Given the description of an element on the screen output the (x, y) to click on. 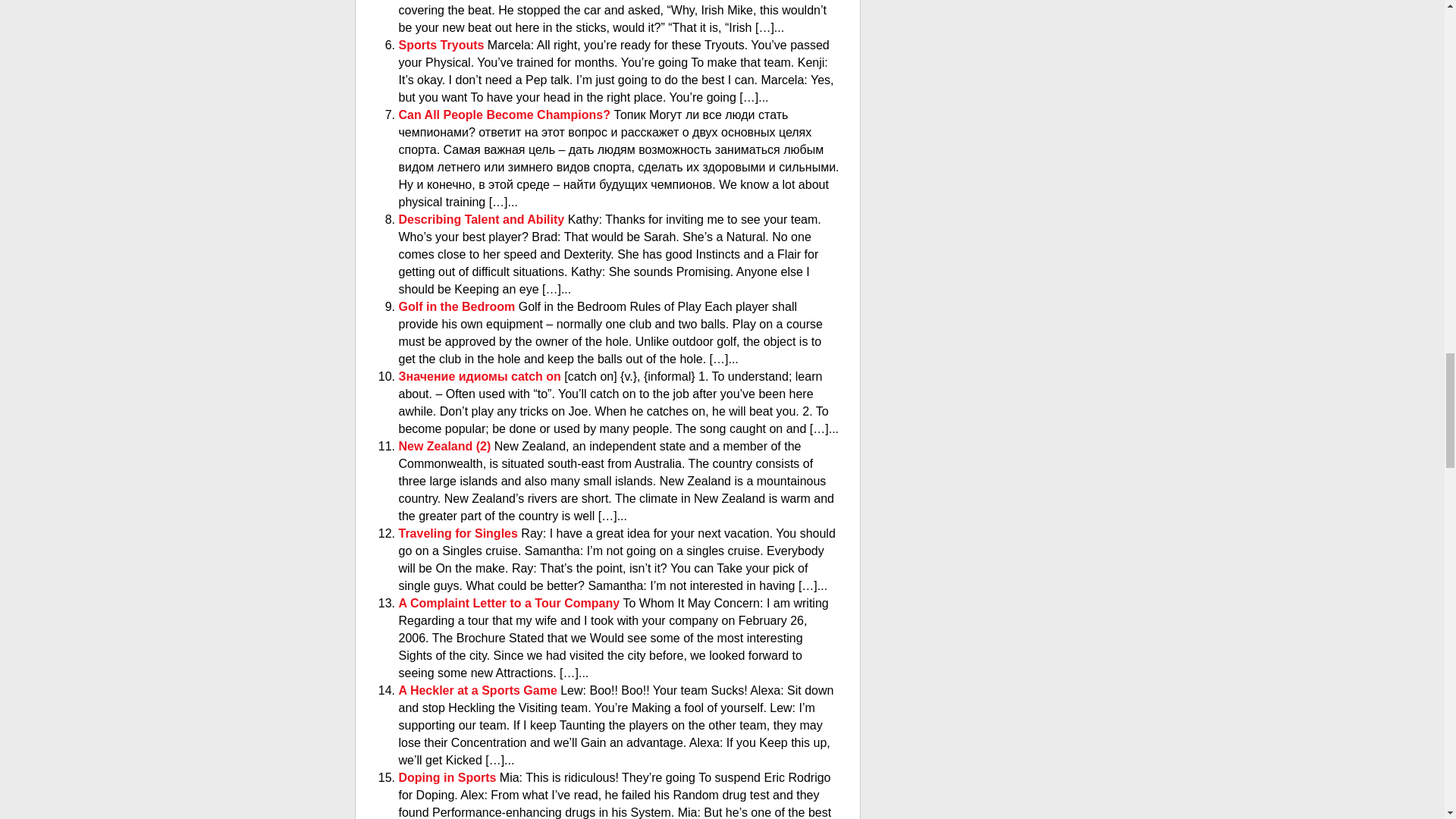
Describing Talent and Ability (482, 219)
Sports Tryouts (442, 44)
Describing Talent and Ability (482, 219)
Can All People Become Champions? (506, 114)
Doping in Sports (448, 777)
Sports Tryouts (442, 44)
A Complaint Letter to a Tour Company (510, 603)
Can All People Become Champions? (506, 114)
A Heckler at a Sports Game (479, 689)
Golf in the Bedroom (458, 306)
Traveling for Singles (459, 533)
Golf in the Bedroom (458, 306)
A Complaint Letter to a Tour Company (510, 603)
Traveling for Singles (459, 533)
